Given the description of an element on the screen output the (x, y) to click on. 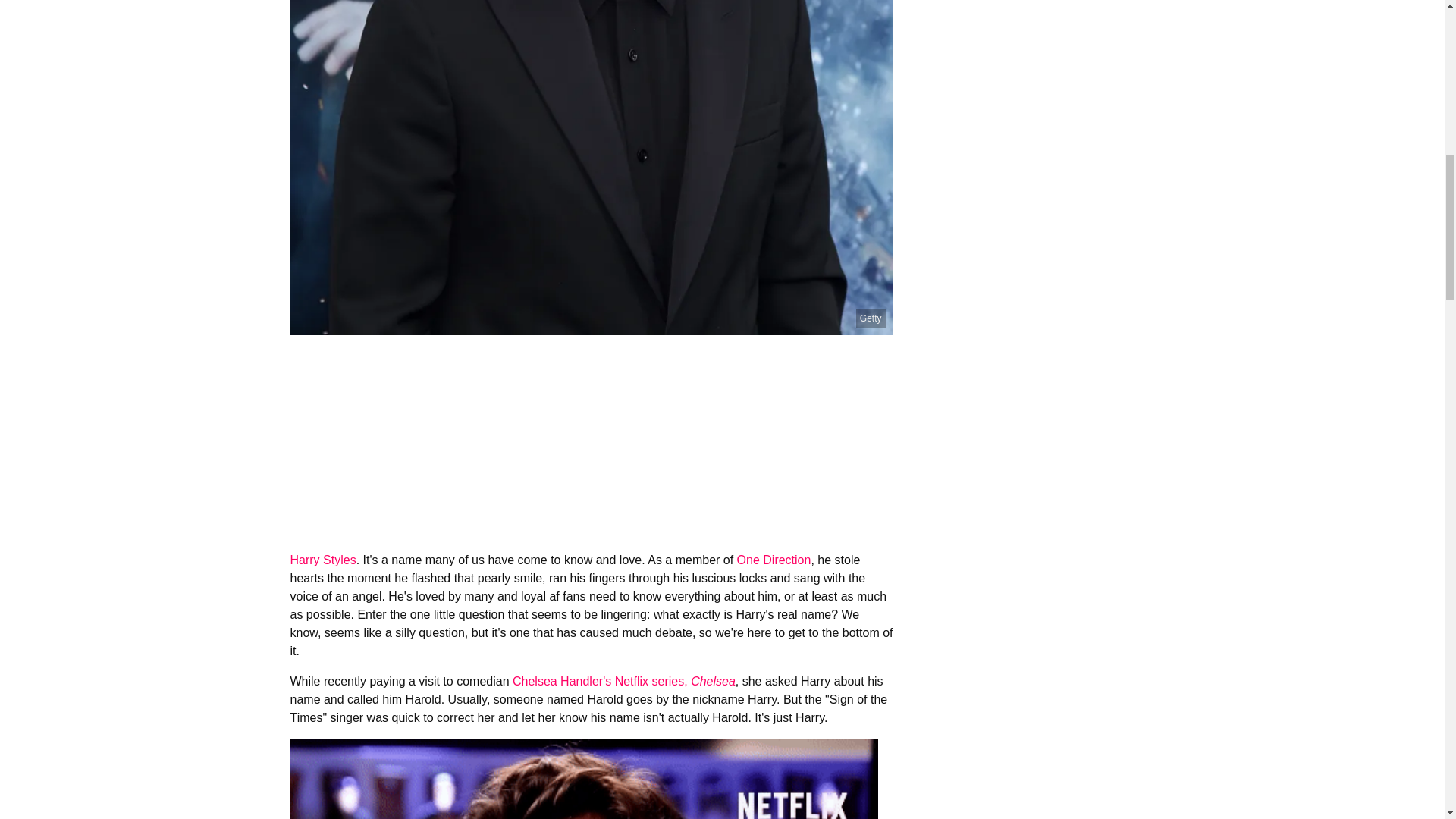
harry styles name (583, 779)
One Direction (773, 559)
Chelsea Handler's Netflix series, Chelsea (623, 680)
Harry Styles (322, 559)
